Given the description of an element on the screen output the (x, y) to click on. 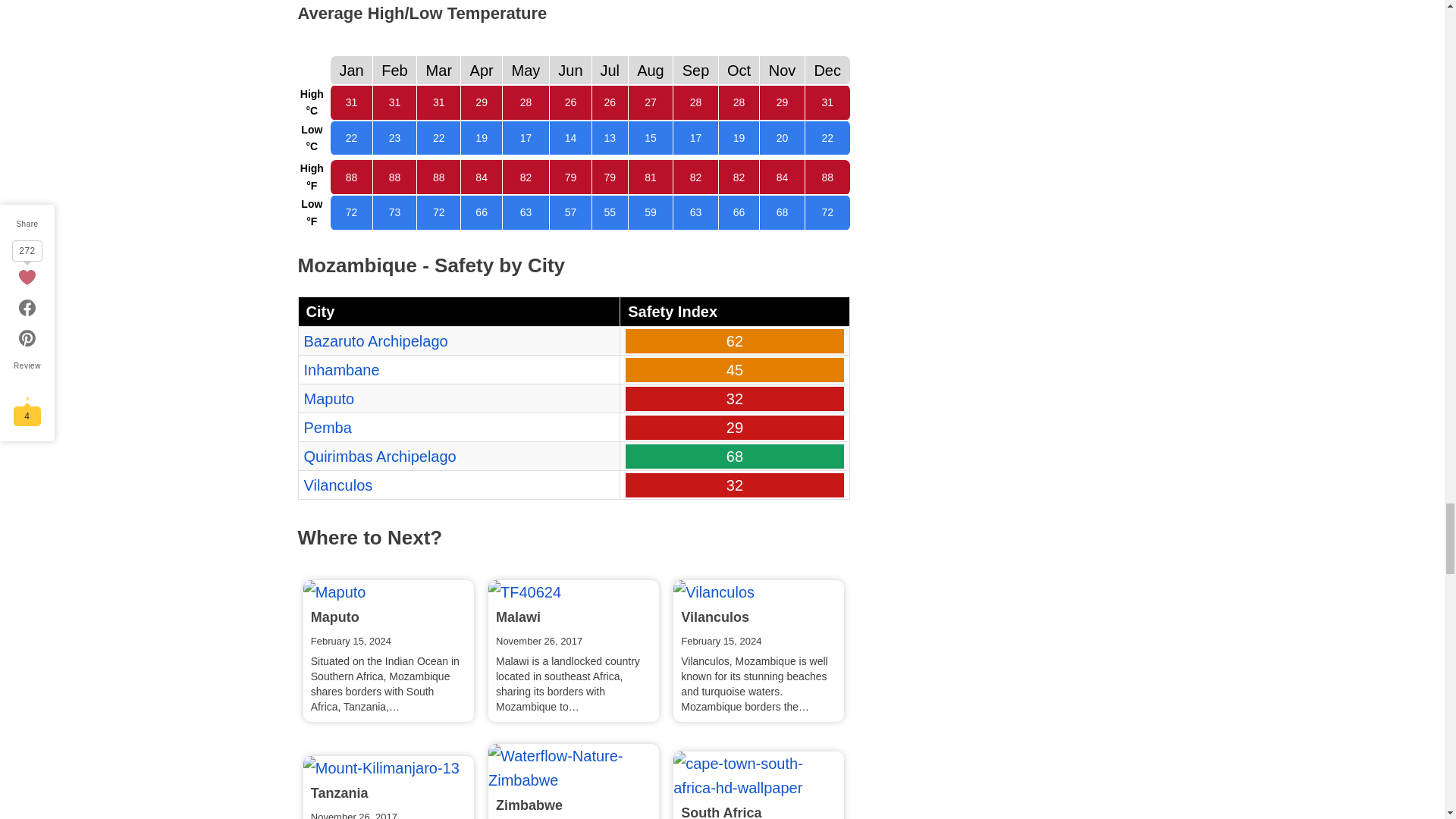
Bazaruto Archipelago (374, 340)
Maputo (334, 591)
Malawi (523, 591)
Inhambane (340, 369)
Maputo (327, 398)
Pemba (326, 427)
